Given the description of an element on the screen output the (x, y) to click on. 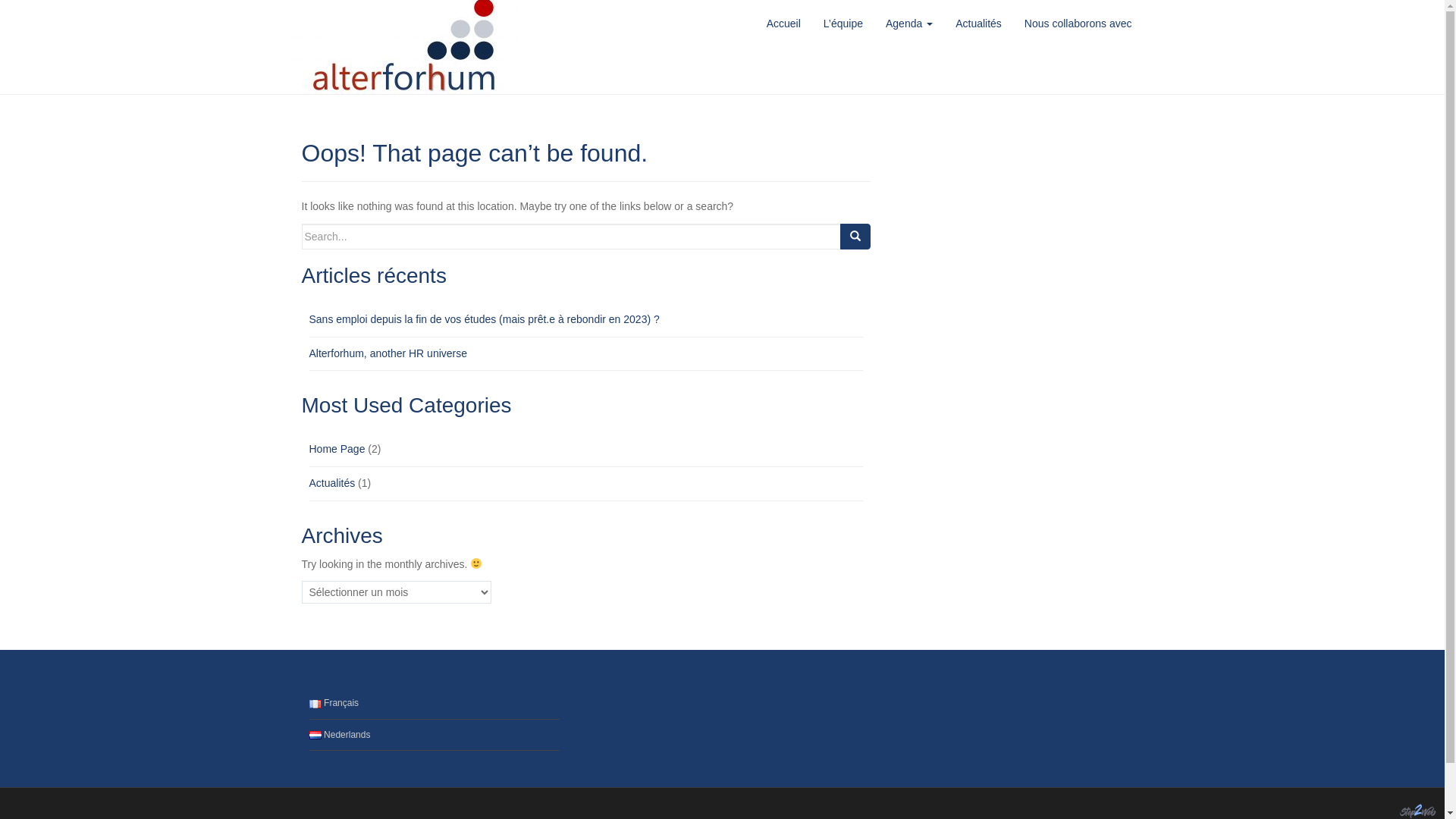
Search Element type: text (855, 236)
Home Page Element type: text (337, 448)
Nederlands Element type: text (339, 734)
Alterforhum, another HR universe Element type: text (388, 353)
